Given the description of an element on the screen output the (x, y) to click on. 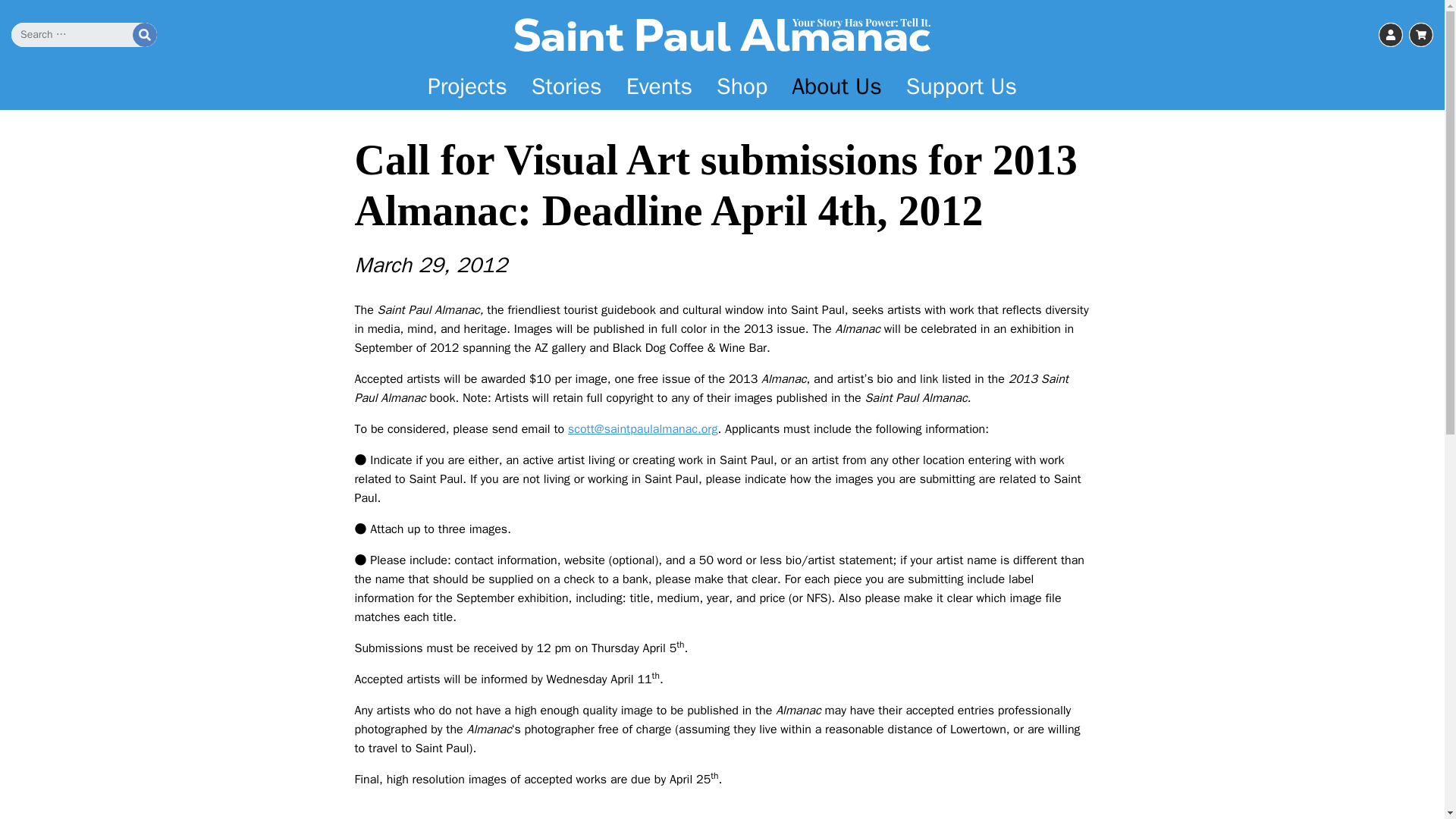
 SEARCH (144, 34)
Support Us (961, 86)
Events (659, 86)
Cart (1420, 34)
Projects (466, 86)
Stories (566, 86)
Account (1390, 34)
About Us (835, 86)
Shop (741, 86)
